Given the description of an element on the screen output the (x, y) to click on. 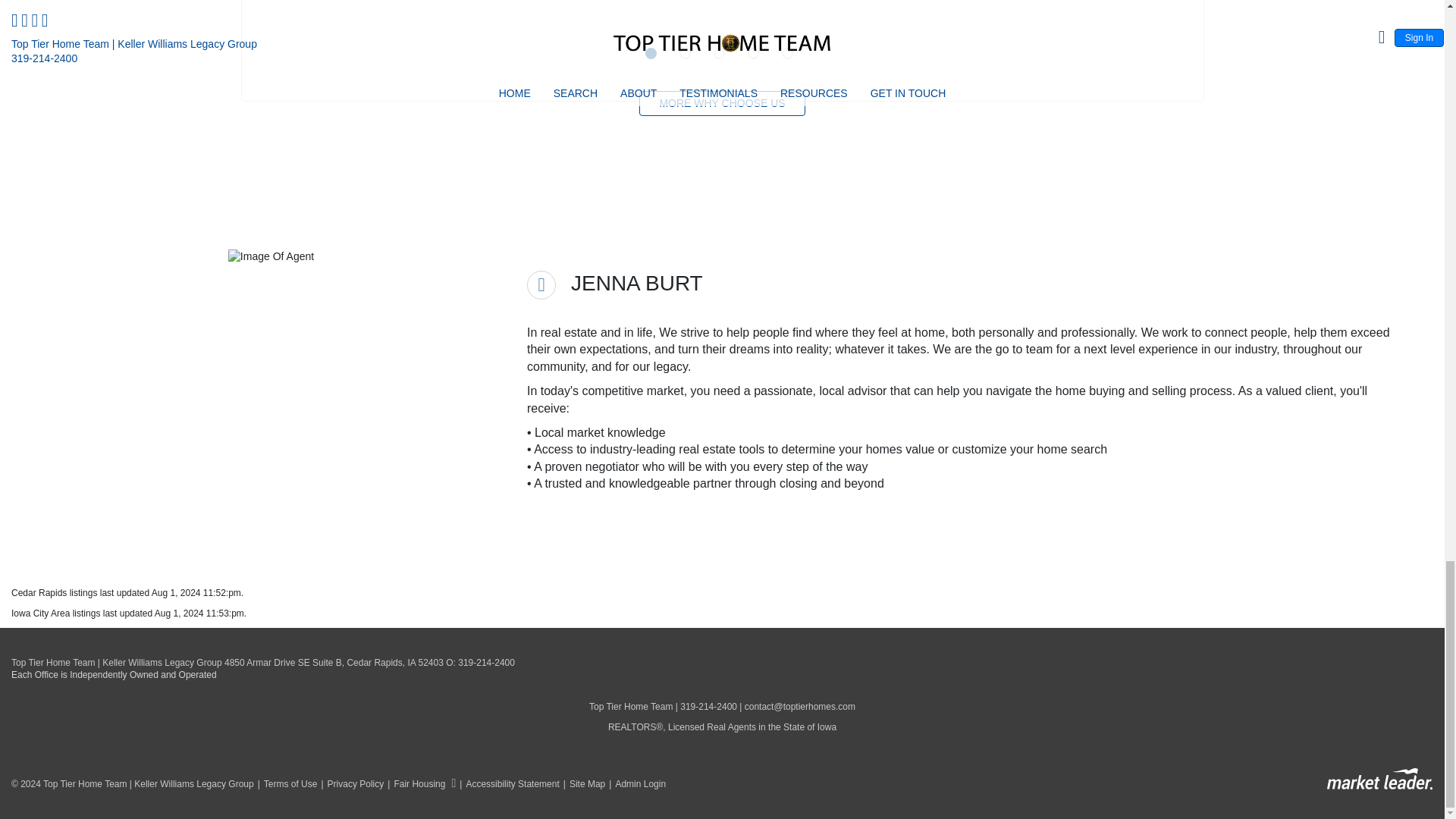
Fair Housing (419, 784)
Privacy Policy (350, 784)
Terms of Use (285, 784)
MORE WHY CHOOSE US (722, 103)
Powered By Market Leader (1379, 779)
319-214-2400 (486, 662)
